Given the description of an element on the screen output the (x, y) to click on. 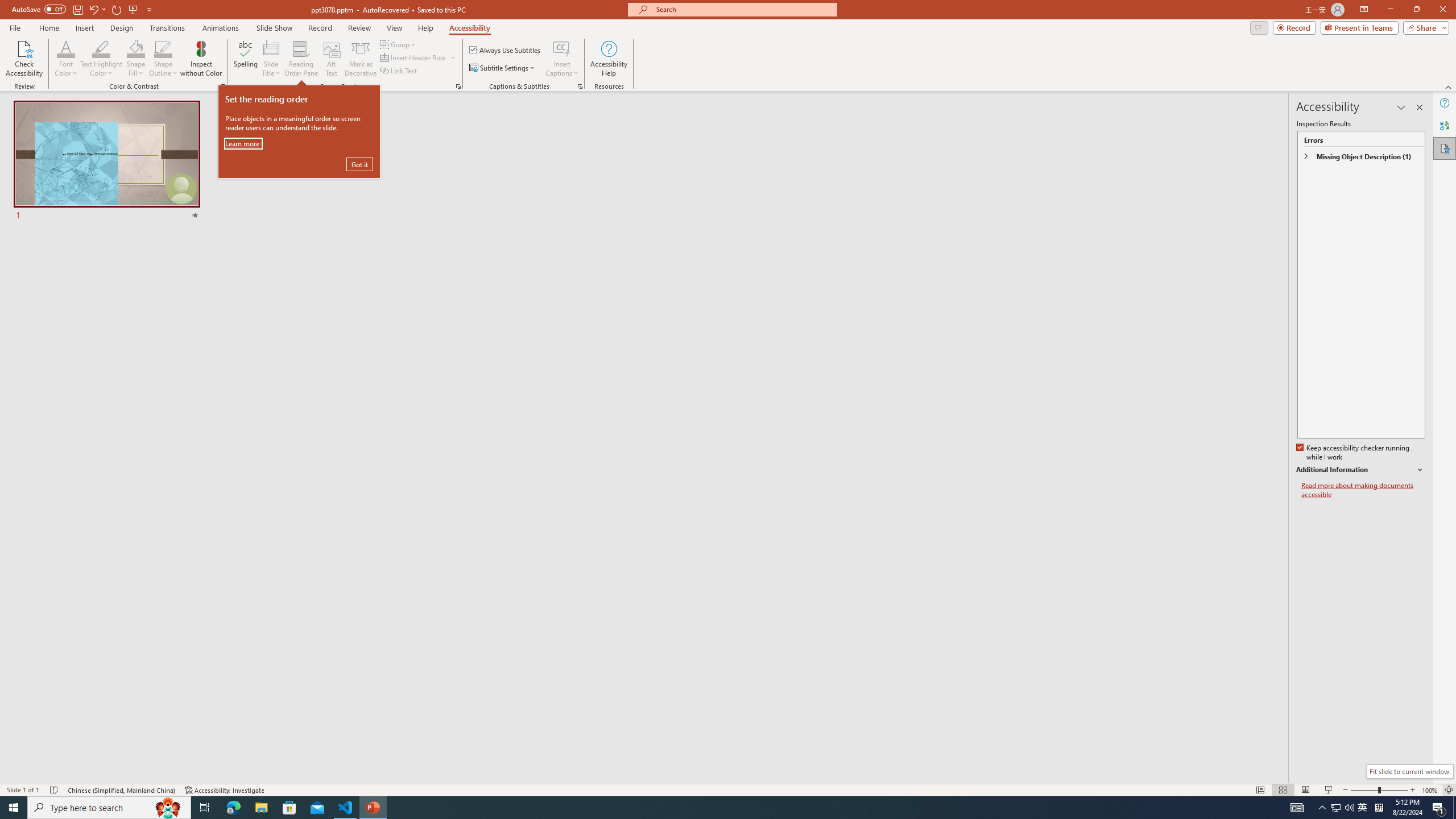
Inspect without Color (201, 58)
Group (398, 44)
Accessibility Help (608, 58)
Zoom 100% (1430, 790)
Mark as Decorative (360, 58)
Microsoft Edge (233, 807)
Insert Header Row (418, 56)
Insert Captions (561, 48)
